Given the description of an element on the screen output the (x, y) to click on. 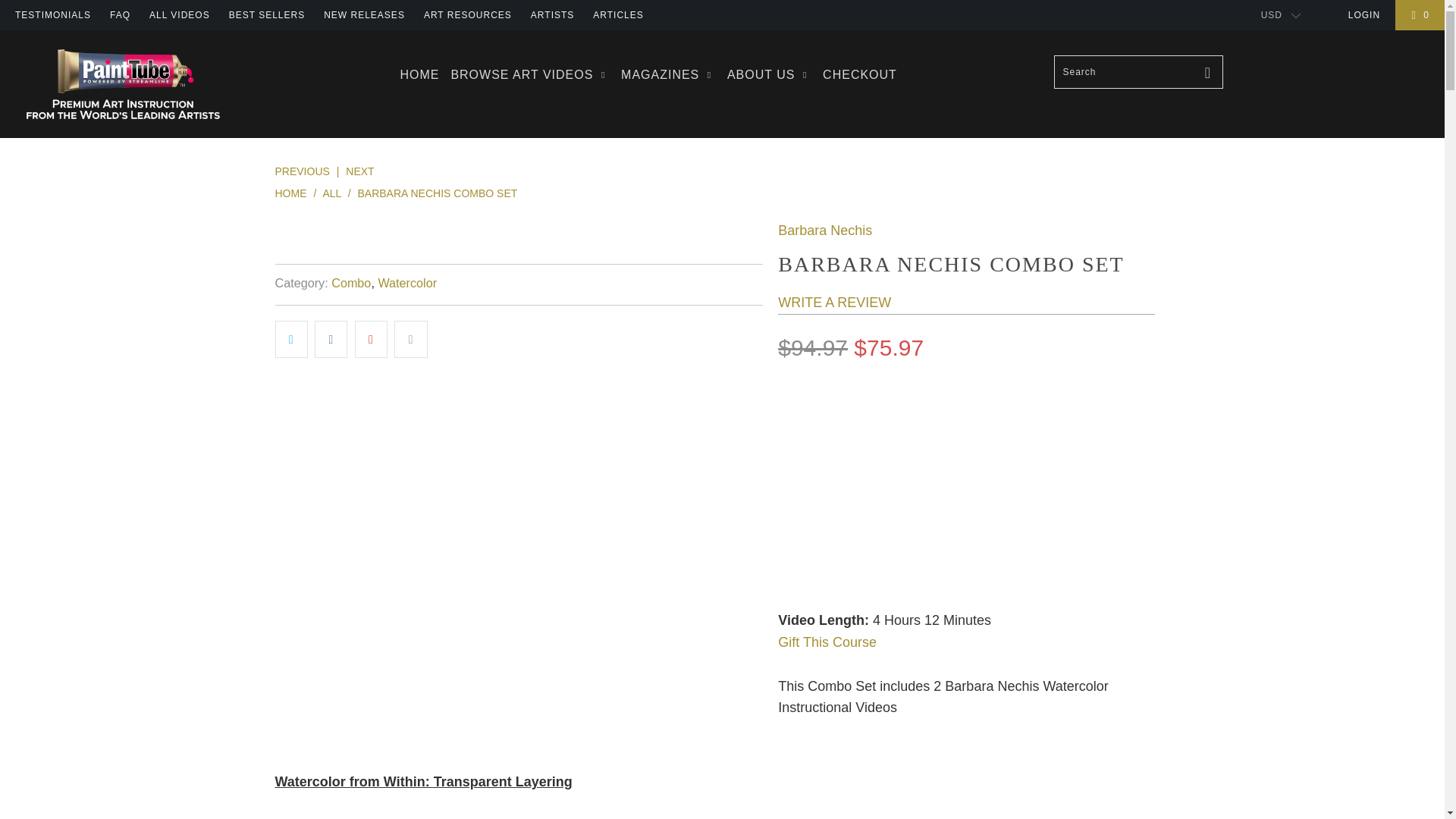
Barbara Nechis (824, 230)
ART RESOURCES (467, 15)
Next (360, 171)
MAGAZINES (668, 74)
All (332, 193)
BEST SELLERS (266, 15)
TESTIMONIALS (52, 15)
ARTISTS (552, 15)
BROWSE ART VIDEOS (529, 74)
HOME (418, 74)
ARTICLES (617, 15)
NEW RELEASES (363, 15)
My Account  (1363, 15)
PaintTube.tv (122, 84)
Products tagged Watercolor (406, 282)
